Given the description of an element on the screen output the (x, y) to click on. 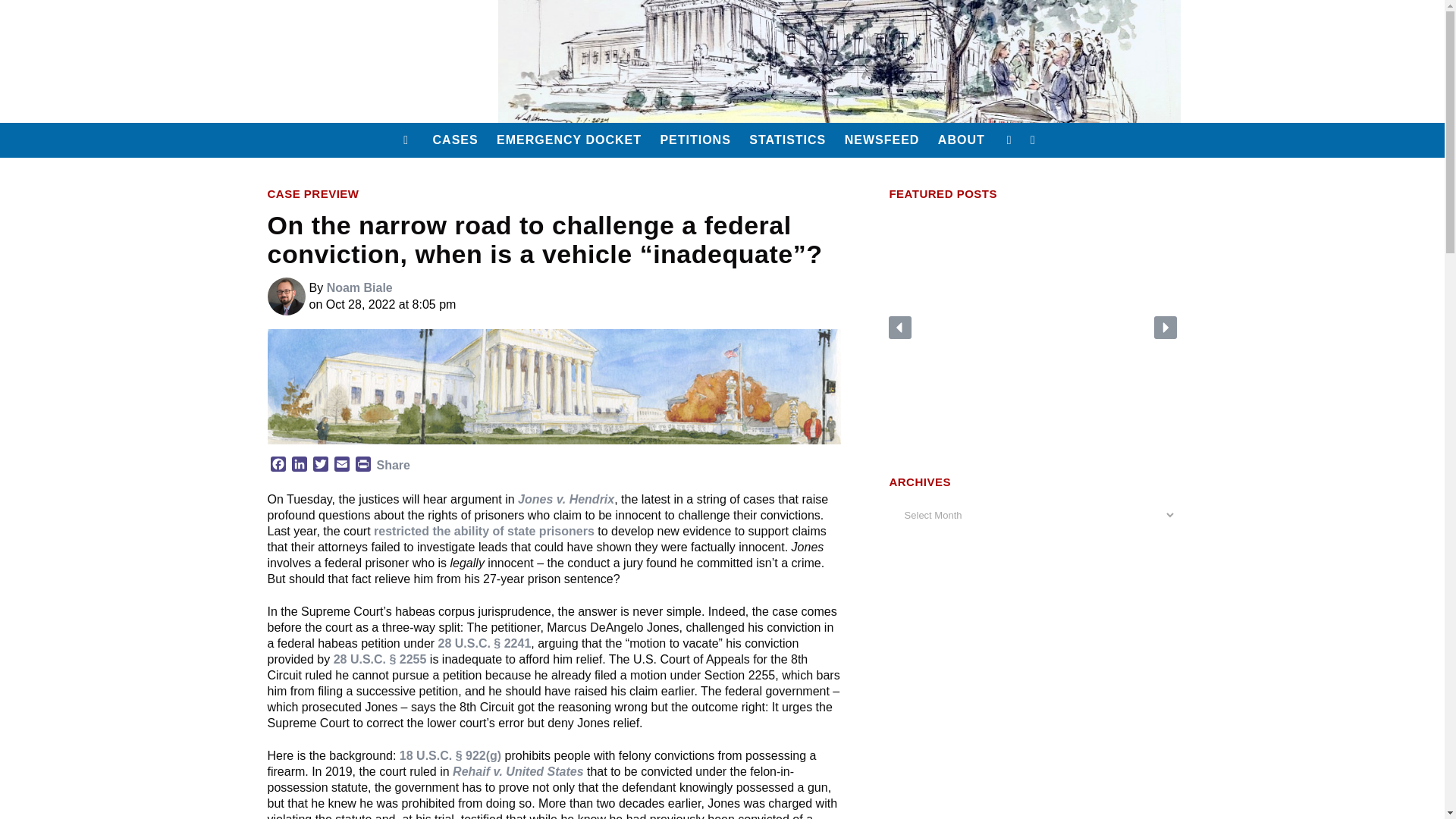
EMERGENCY DOCKET (569, 140)
Facebook (277, 465)
LinkedIn (298, 465)
PETITIONS (695, 140)
NEWSFEED (882, 140)
CASES (455, 140)
Email (341, 465)
Twitter (319, 465)
PrintFriendly (362, 465)
ABOUT (961, 140)
STATISTICS (786, 140)
